Given the description of an element on the screen output the (x, y) to click on. 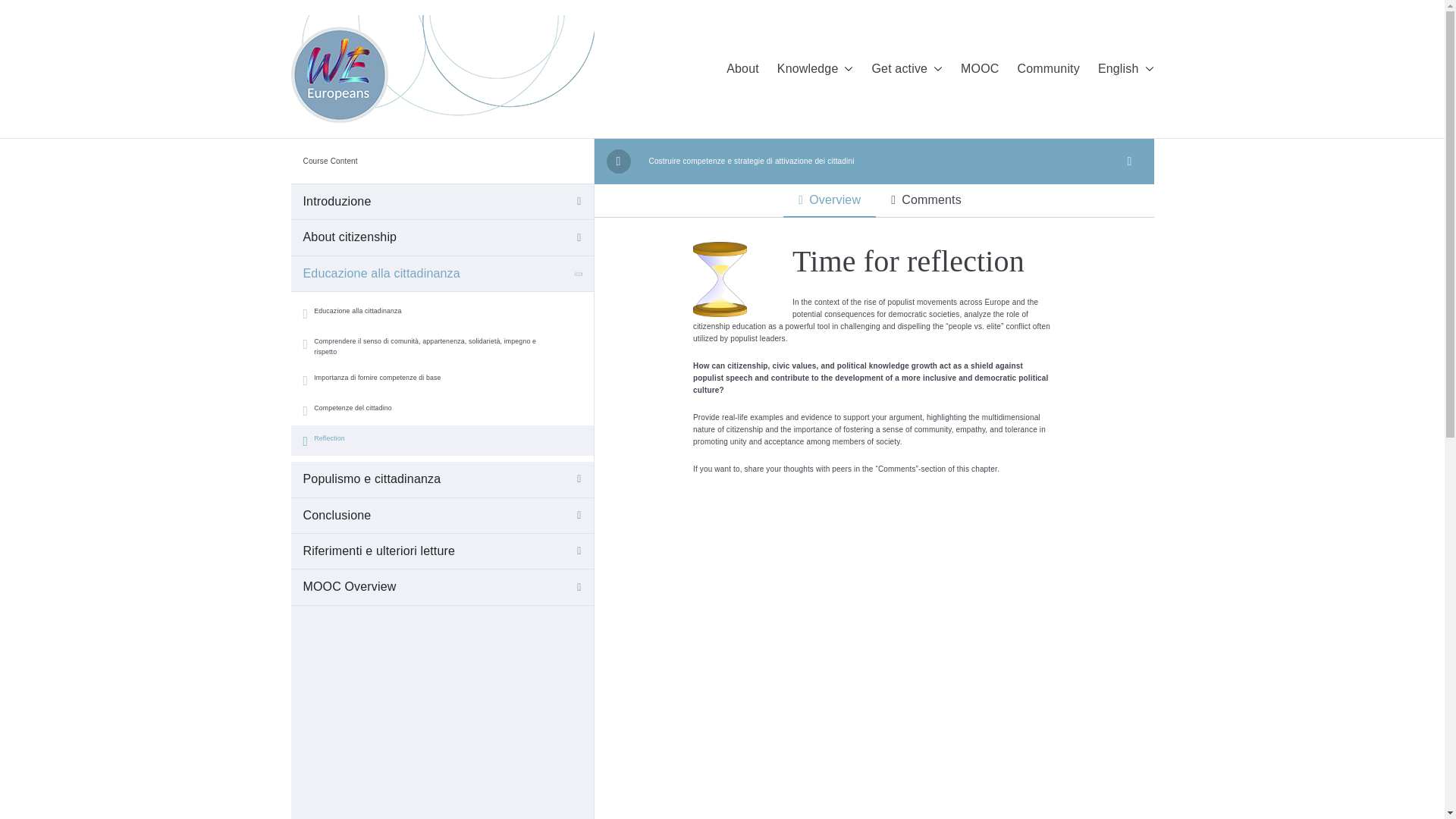
English (1125, 69)
MOOC (979, 69)
Community (1048, 69)
Get active (906, 69)
Knowledge (815, 69)
About (742, 69)
